Given the description of an element on the screen output the (x, y) to click on. 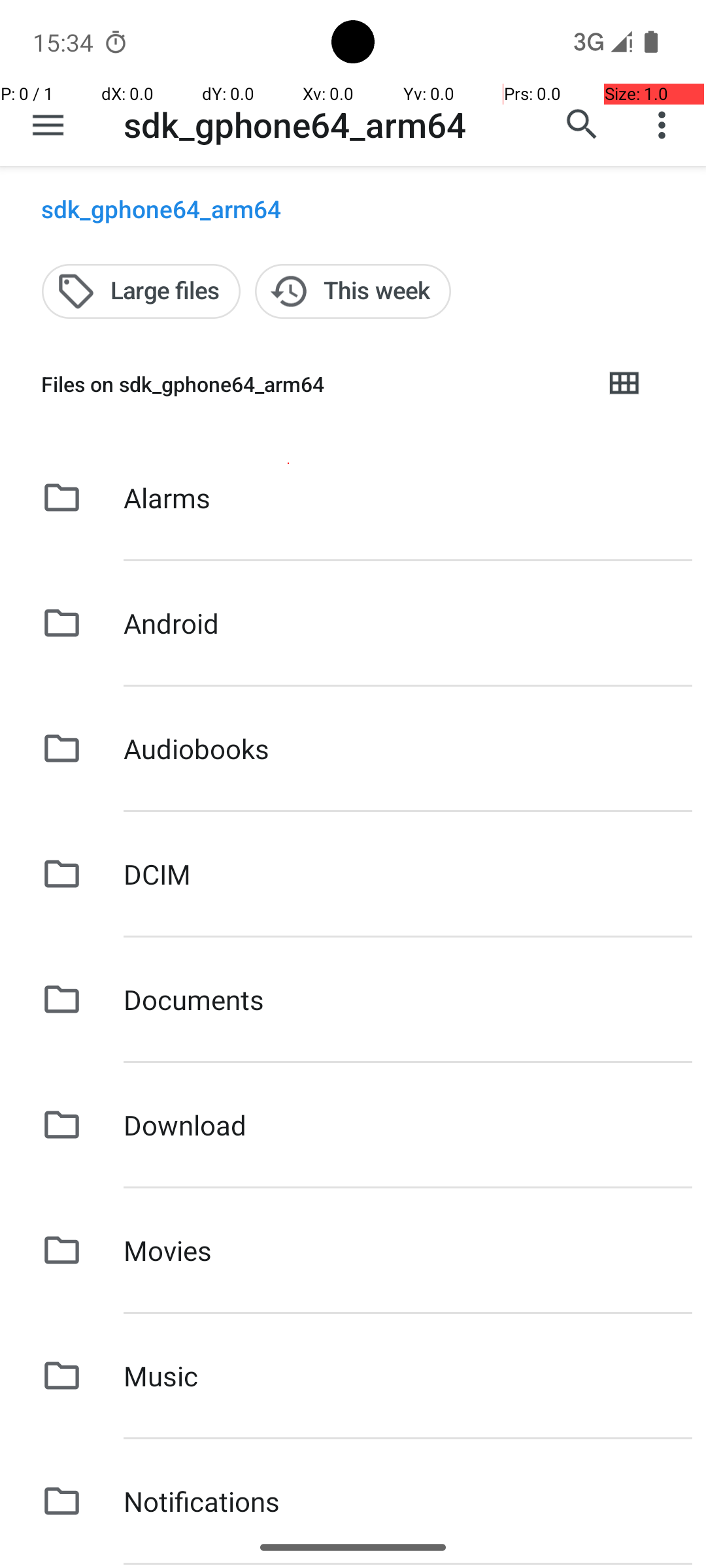
Files on sdk_gphone64_arm64 Element type: android.widget.TextView (311, 383)
Alarms Element type: android.widget.TextView (166, 497)
Android Element type: android.widget.TextView (170, 622)
Audiobooks Element type: android.widget.TextView (196, 748)
